Given the description of an element on the screen output the (x, y) to click on. 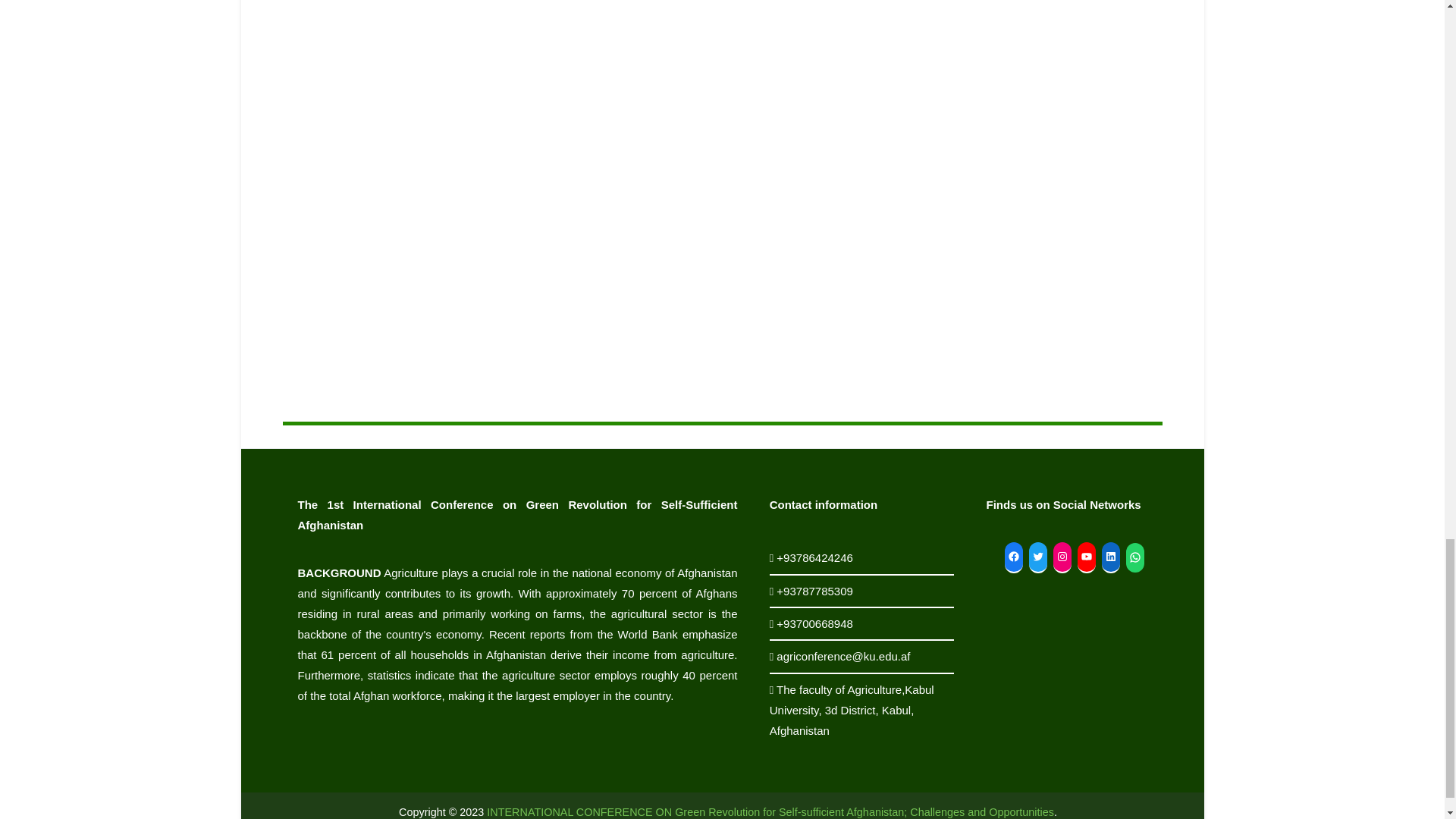
LinkedIn (1109, 556)
YouTube (1085, 556)
AGCO (770, 811)
WhatsApp (1133, 556)
Facebook (1013, 556)
Instagram (1061, 556)
Twitter (1036, 556)
